Given the description of an element on the screen output the (x, y) to click on. 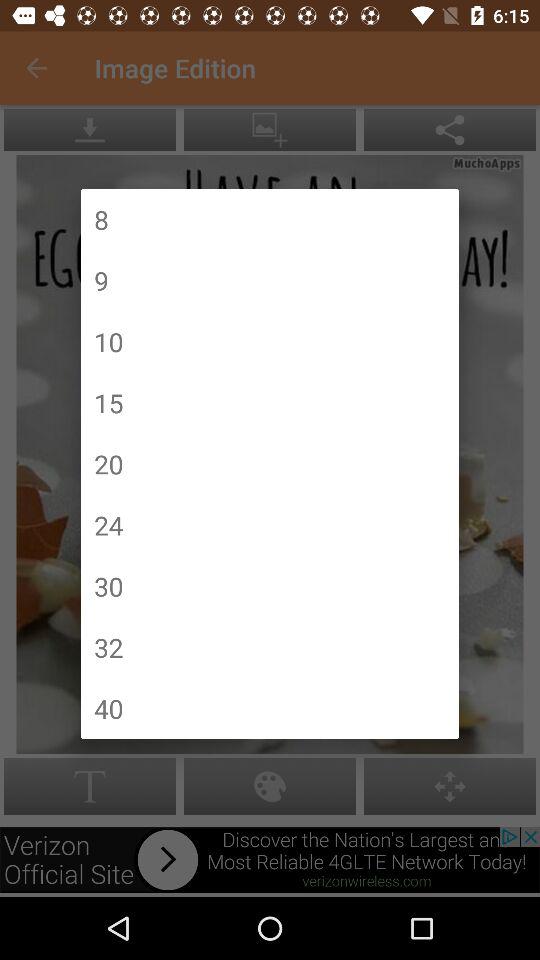
select icon above the 40 item (108, 647)
